Given the description of an element on the screen output the (x, y) to click on. 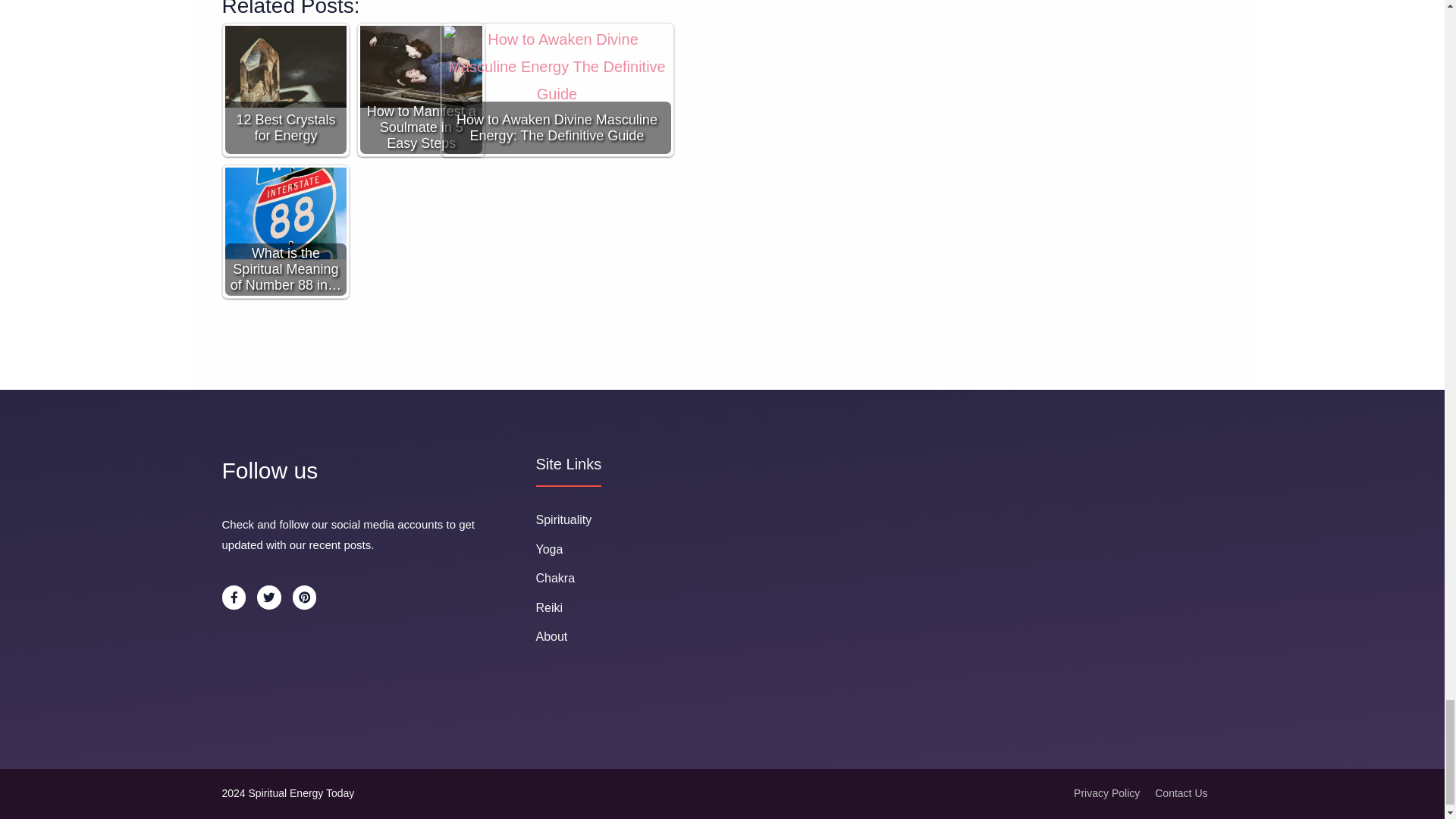
How to Manifest a Soulmate in 5 Easy Steps (420, 66)
How to Awaken Divine Masculine Energy: The Definitive Guide (556, 89)
12 Best Crystals for Energy (285, 89)
12 Best Crystals for Energy (285, 66)
How to Manifest a Soulmate in 5 Easy Steps (421, 89)
How to Awaken Divine Masculine Energy: The Definitive Guide (555, 91)
